Given the description of an element on the screen output the (x, y) to click on. 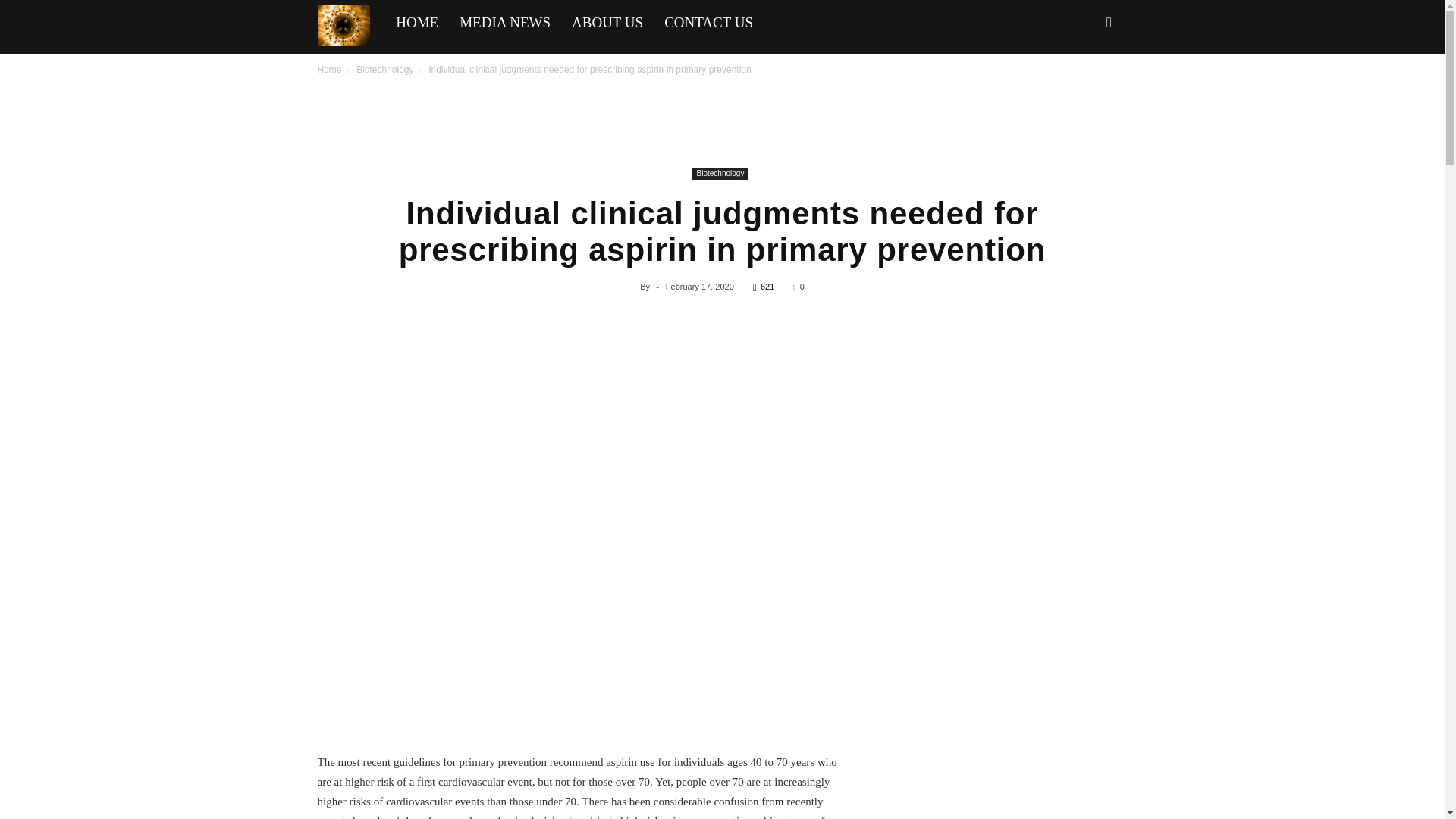
Search (1085, 87)
Newspaper 6 - News Magazine theme for Wordpress (343, 25)
View all posts in Biotechnology (384, 69)
ABOUT US (606, 22)
0 (798, 286)
Home (328, 69)
Biotechnology (721, 173)
MEDIA NEWS (504, 22)
Biotechnology (384, 69)
HOME (416, 22)
